Given the description of an element on the screen output the (x, y) to click on. 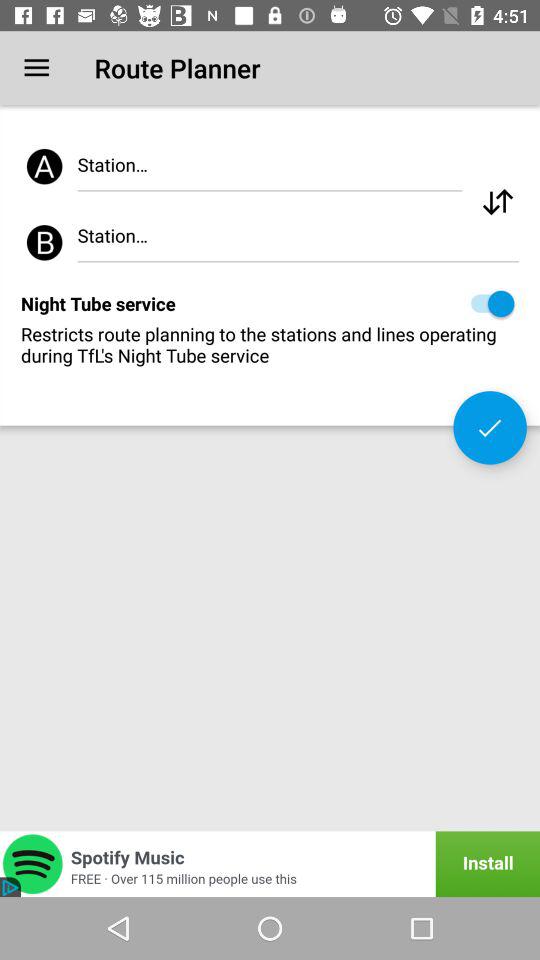
sportify music butto (270, 864)
